Given the description of an element on the screen output the (x, y) to click on. 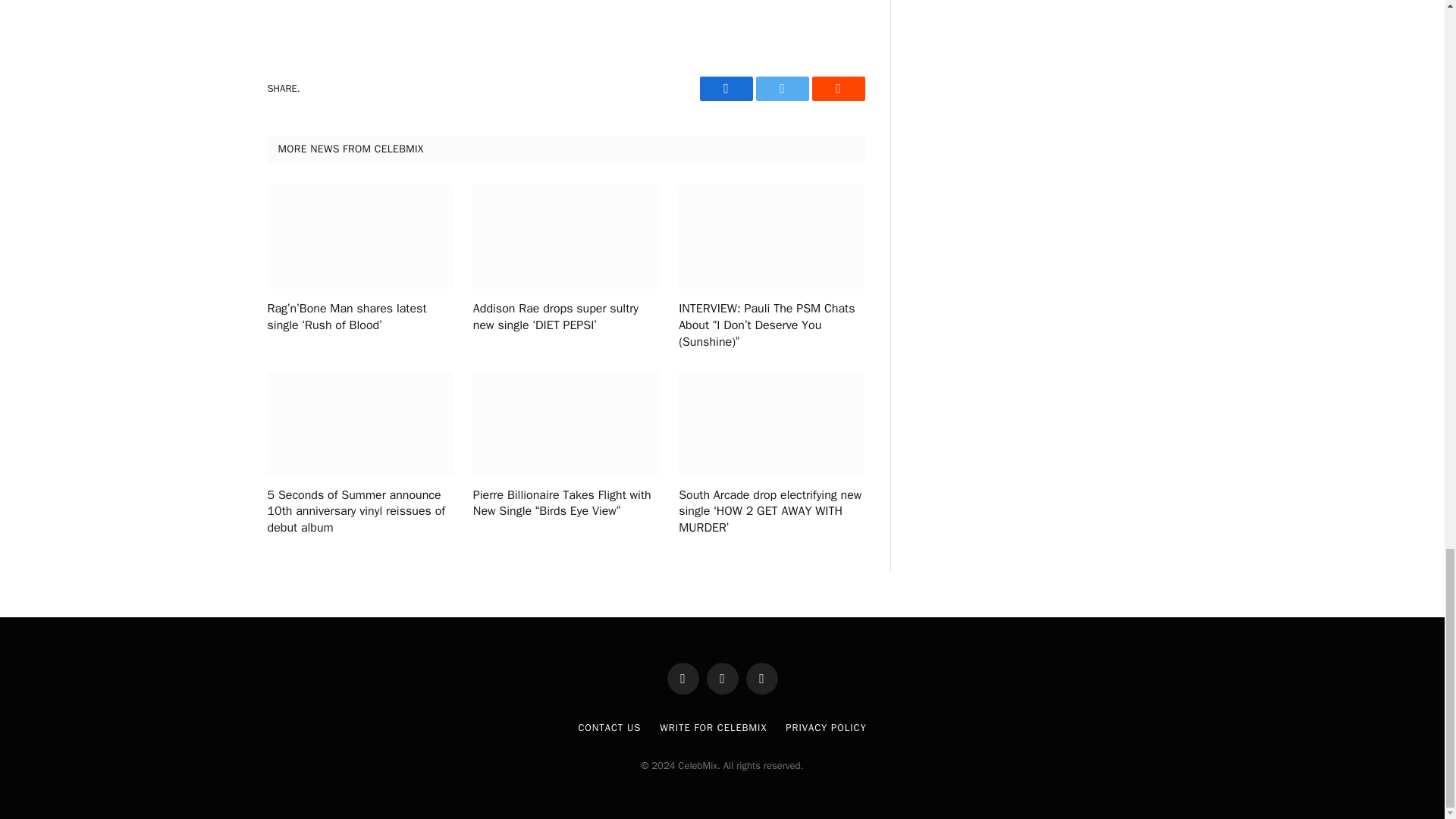
Reddit (837, 88)
Spotify Embed: Have Yourself a Merry Little Christmas (566, 17)
Twitter (781, 88)
Facebook (725, 88)
